Given the description of an element on the screen output the (x, y) to click on. 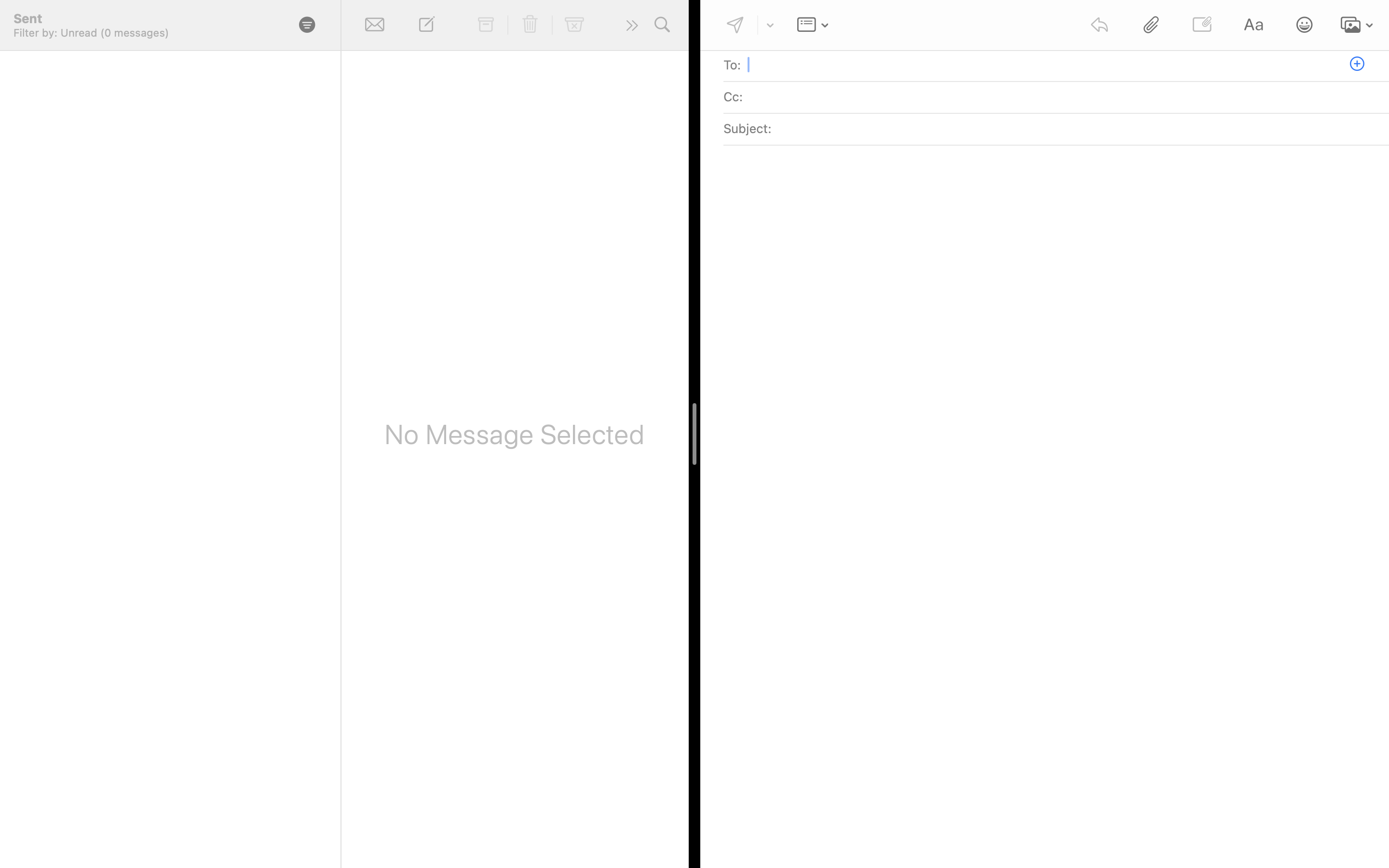
Subject: Element type: AXStaticText (747, 127)
Cc: Element type: AXStaticText (732, 96)
To: Element type: AXStaticText (731, 64)
